Given the description of an element on the screen output the (x, y) to click on. 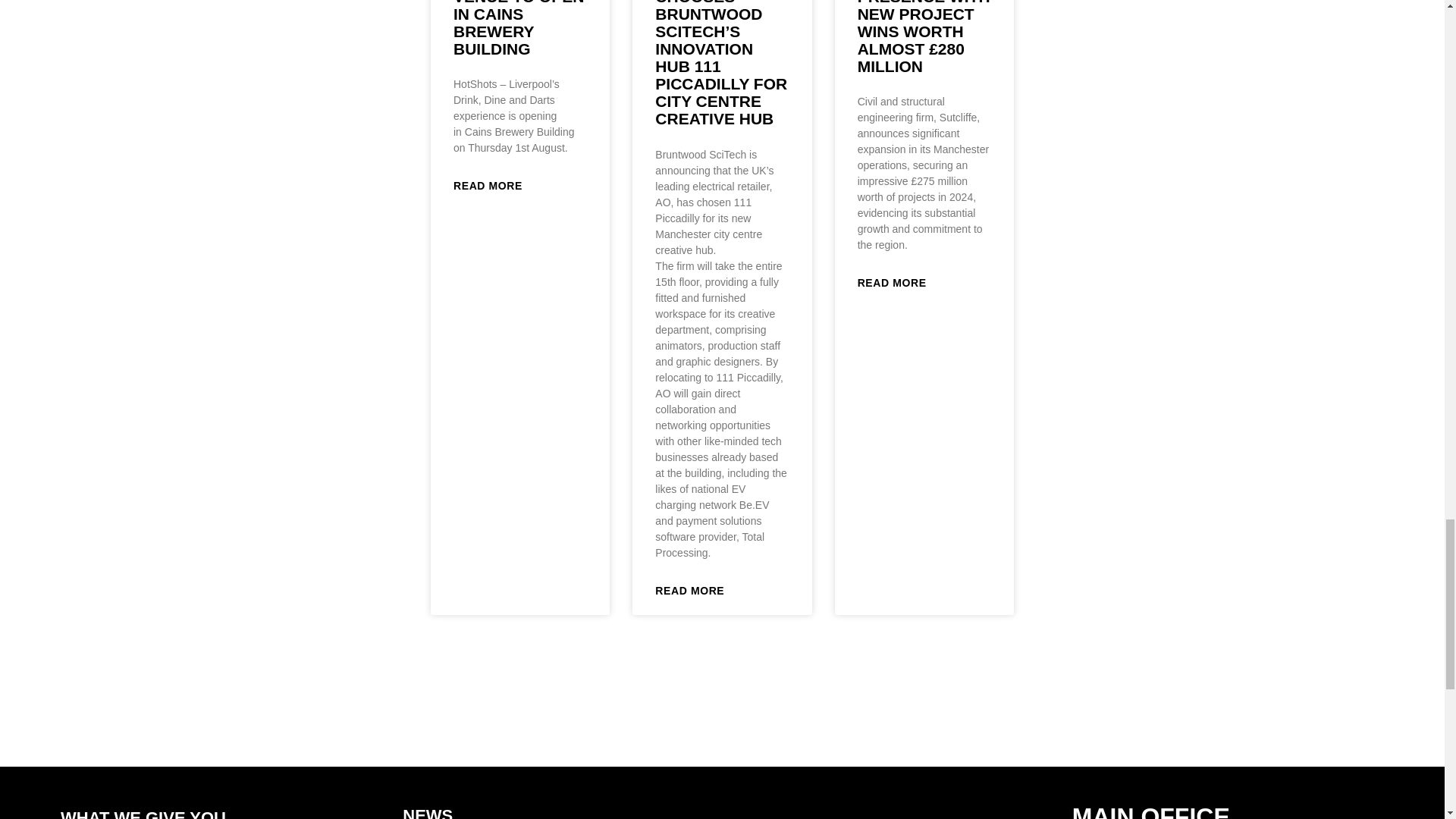
READ MORE (487, 186)
READ MORE (689, 591)
READ MORE (891, 283)
